Given the description of an element on the screen output the (x, y) to click on. 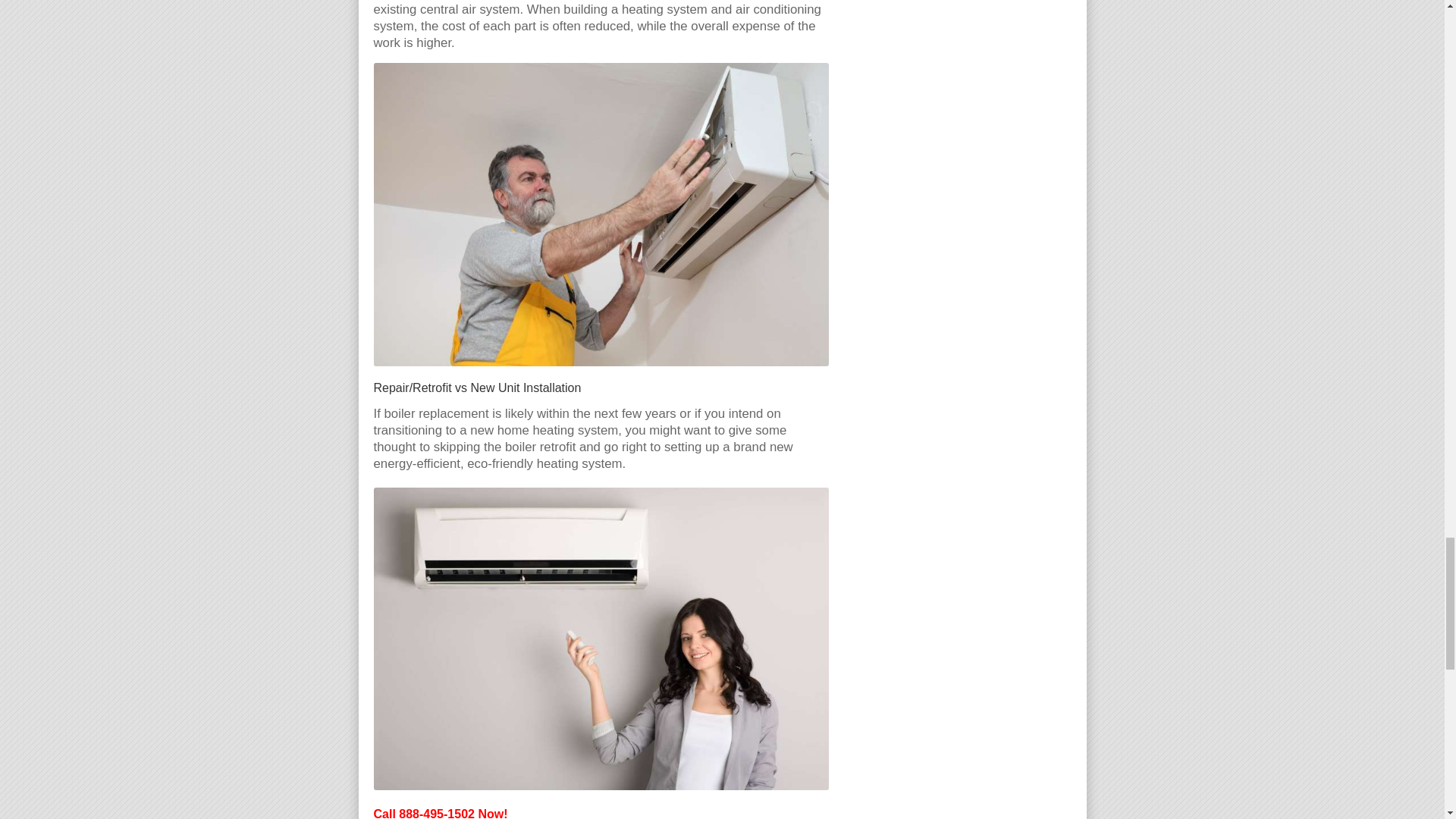
Call 888-495-1502 Now! (439, 813)
